Given the description of an element on the screen output the (x, y) to click on. 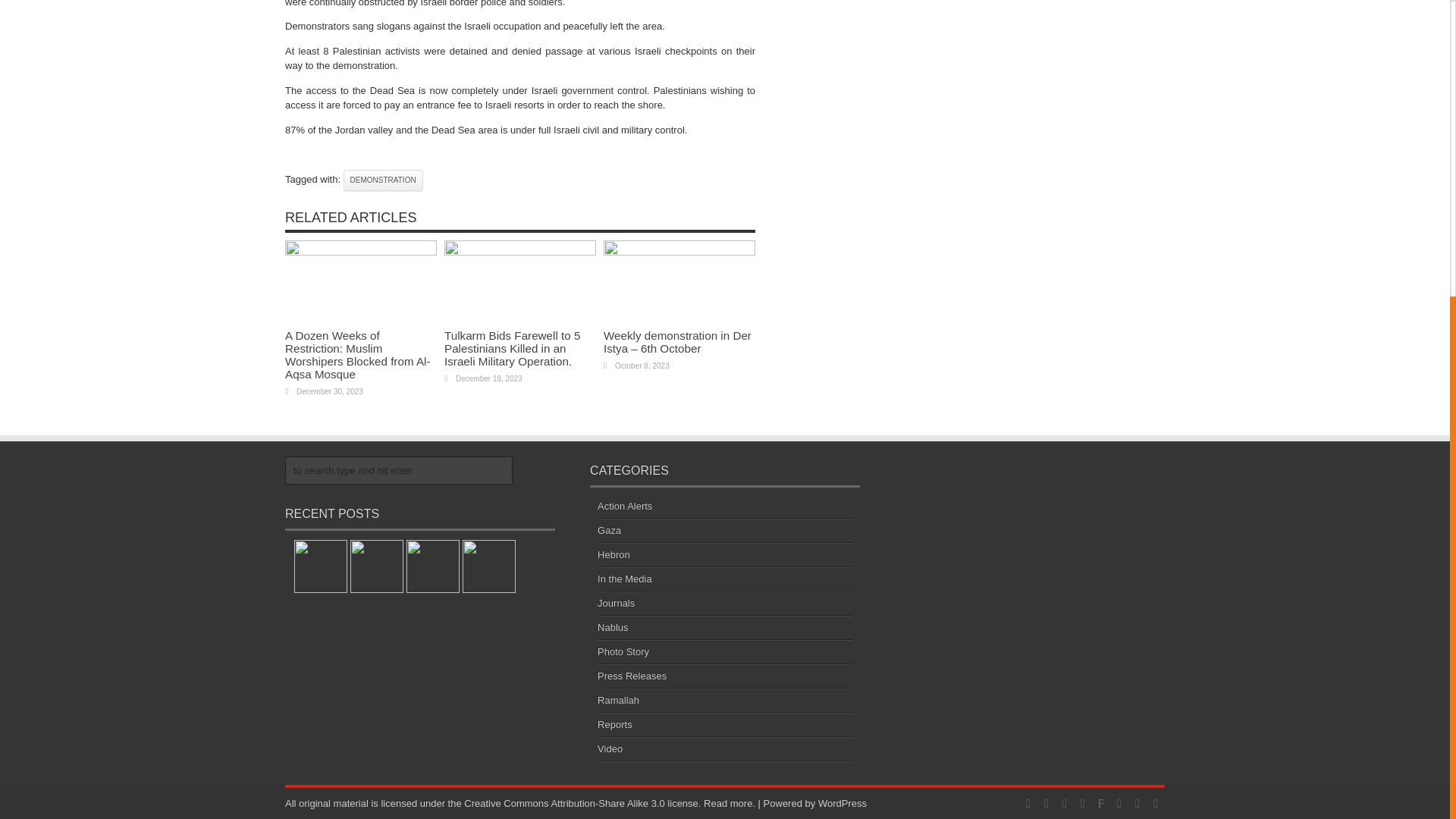
DEMONSTRATION (383, 179)
to search type and hit enter (398, 470)
